Given the description of an element on the screen output the (x, y) to click on. 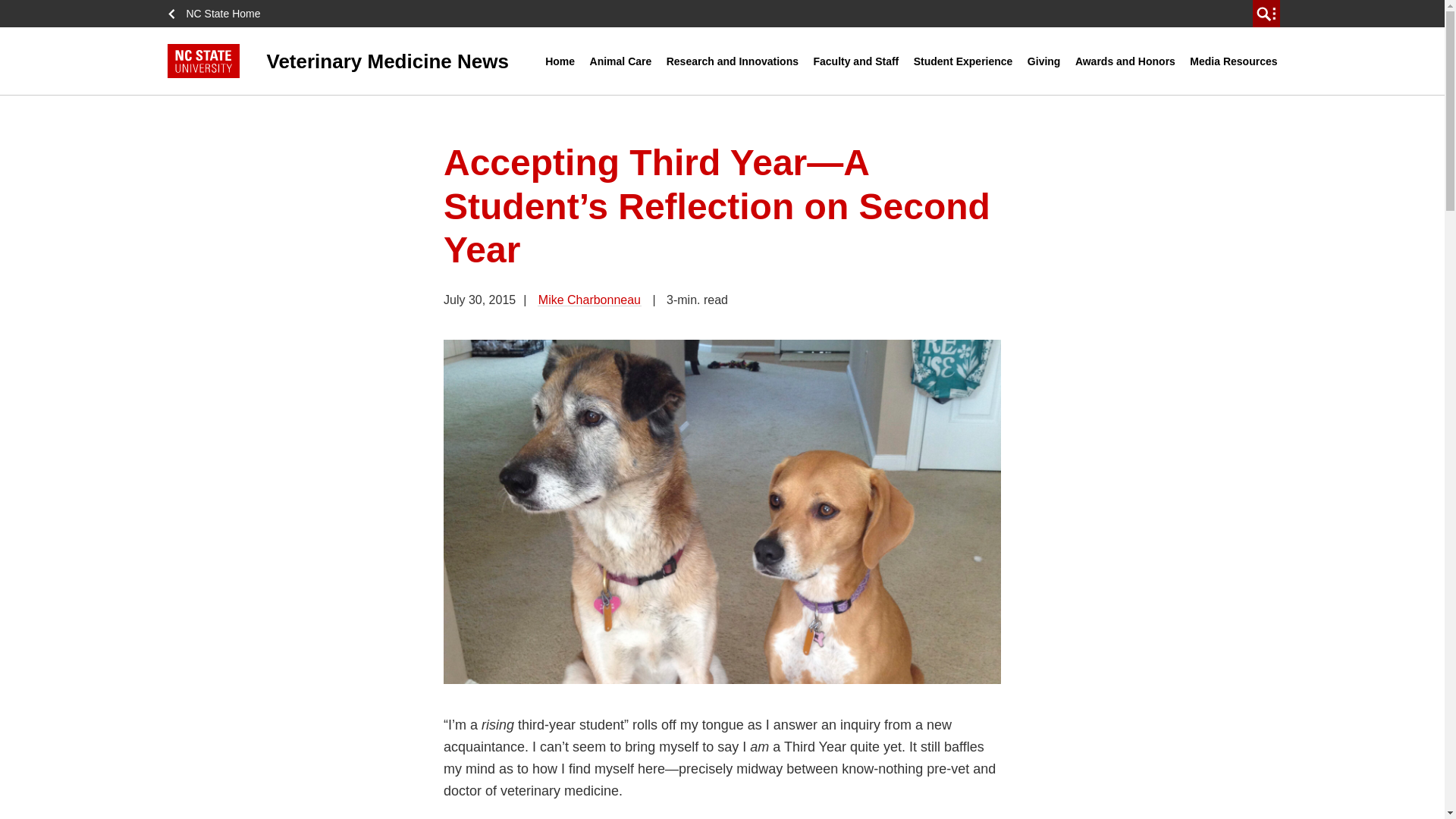
Animal Care (621, 61)
Giving (1043, 61)
Student Experience (963, 61)
Faculty and Staff (855, 61)
Home (559, 61)
Research and Innovations (732, 61)
Veterinary Medicine News (355, 61)
Awards and Honors (1125, 61)
Posts by Mike Charbonneau (589, 299)
NC State Home (217, 13)
Media Resources (1233, 61)
